Given the description of an element on the screen output the (x, y) to click on. 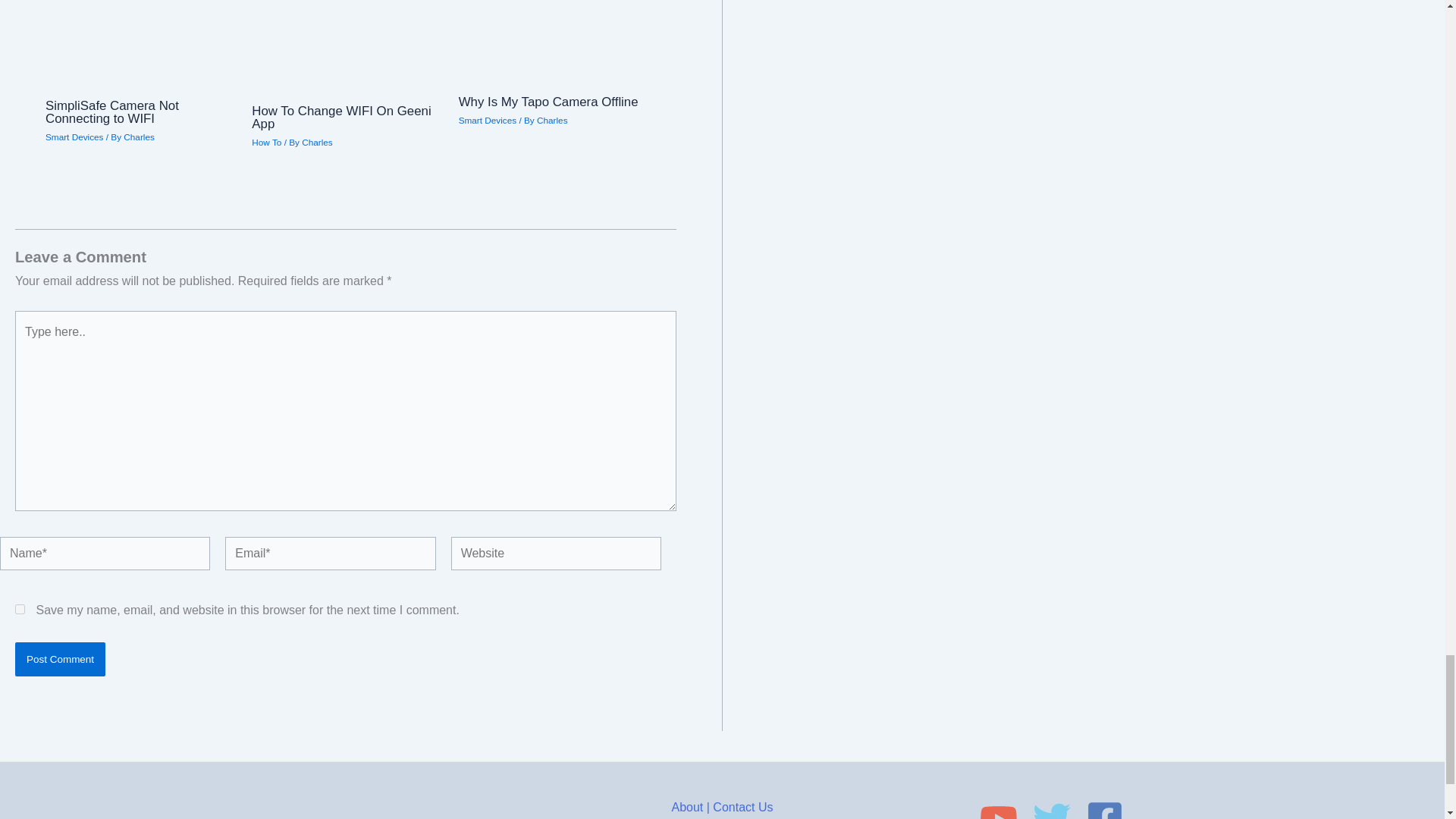
View all posts by Charles (138, 136)
View all posts by Charles (552, 120)
yes (19, 609)
Charles (317, 142)
Post Comment (59, 659)
Charles (138, 136)
View all posts by Charles (317, 142)
How To (266, 142)
Why Is My Tapo Camera Offline (548, 101)
How To Change WIFI On Geeni App (340, 117)
